Given the description of an element on the screen output the (x, y) to click on. 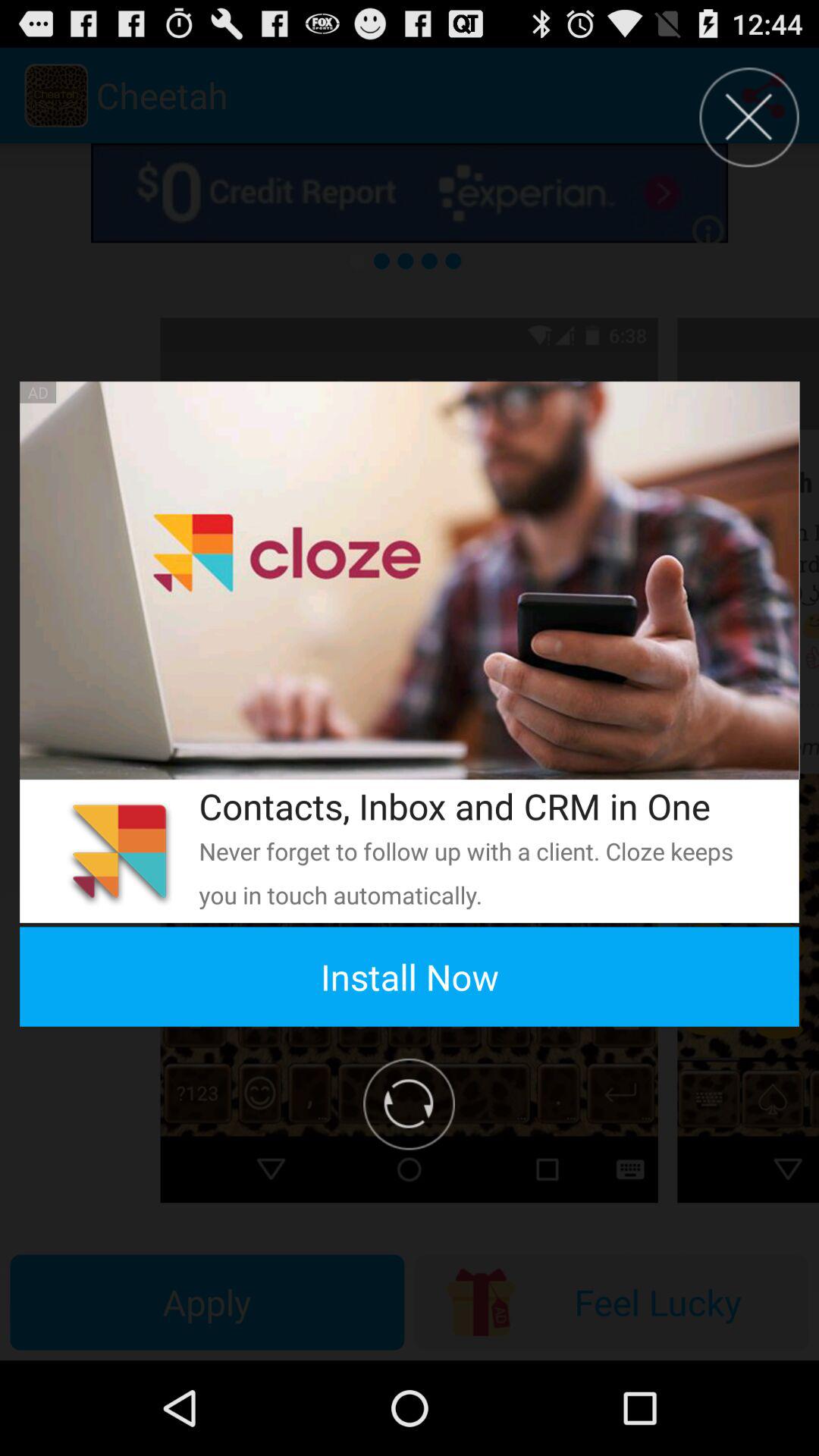
choose the button at the top right corner (749, 117)
